Given the description of an element on the screen output the (x, y) to click on. 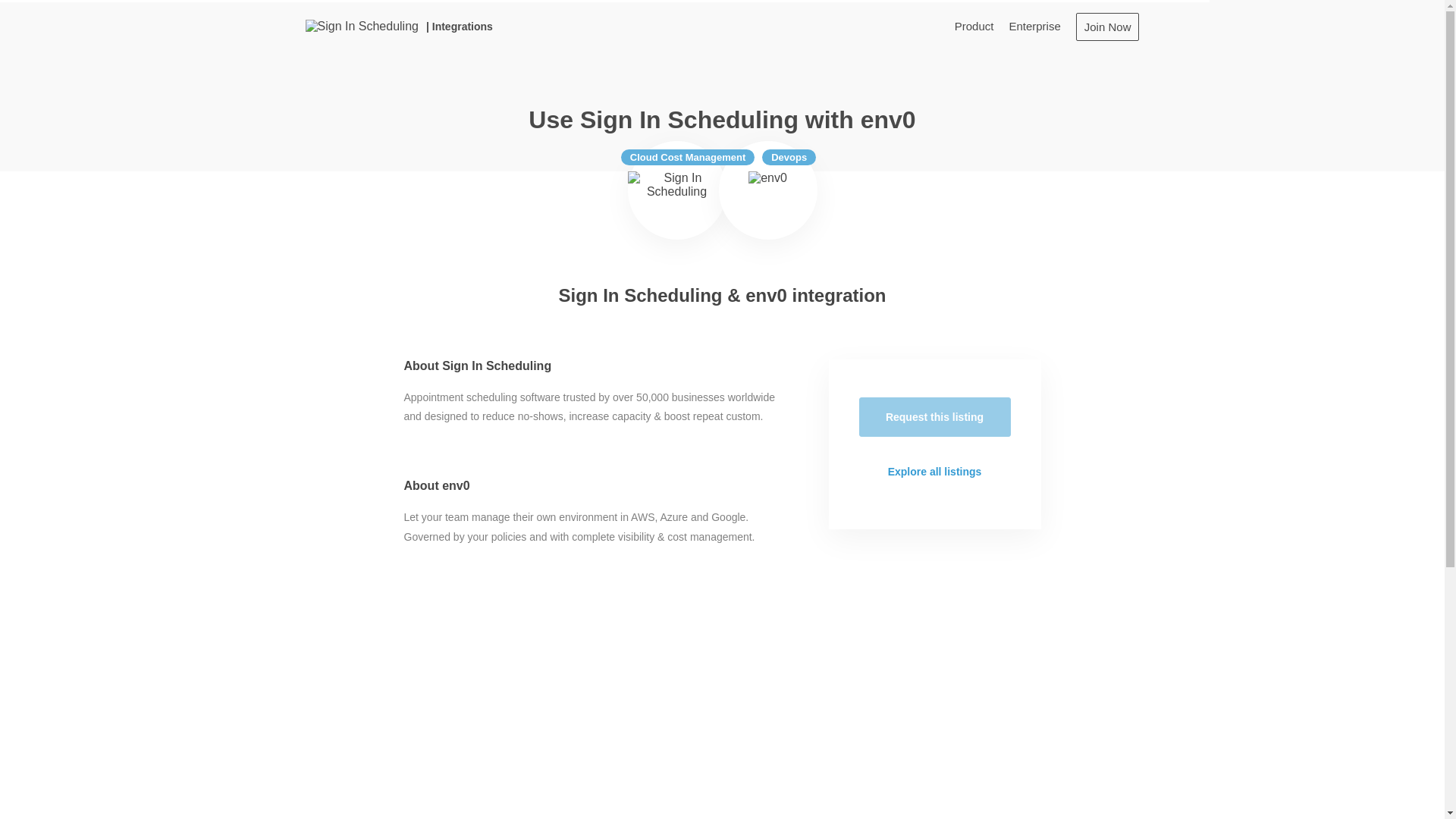
Enterprise (1034, 25)
Explore all listings (934, 471)
Sign In Scheduling (360, 26)
env0 (767, 190)
Sign In Scheduling (676, 190)
Product (974, 25)
Request this listing (934, 416)
Join Now (1107, 26)
